Given the description of an element on the screen output the (x, y) to click on. 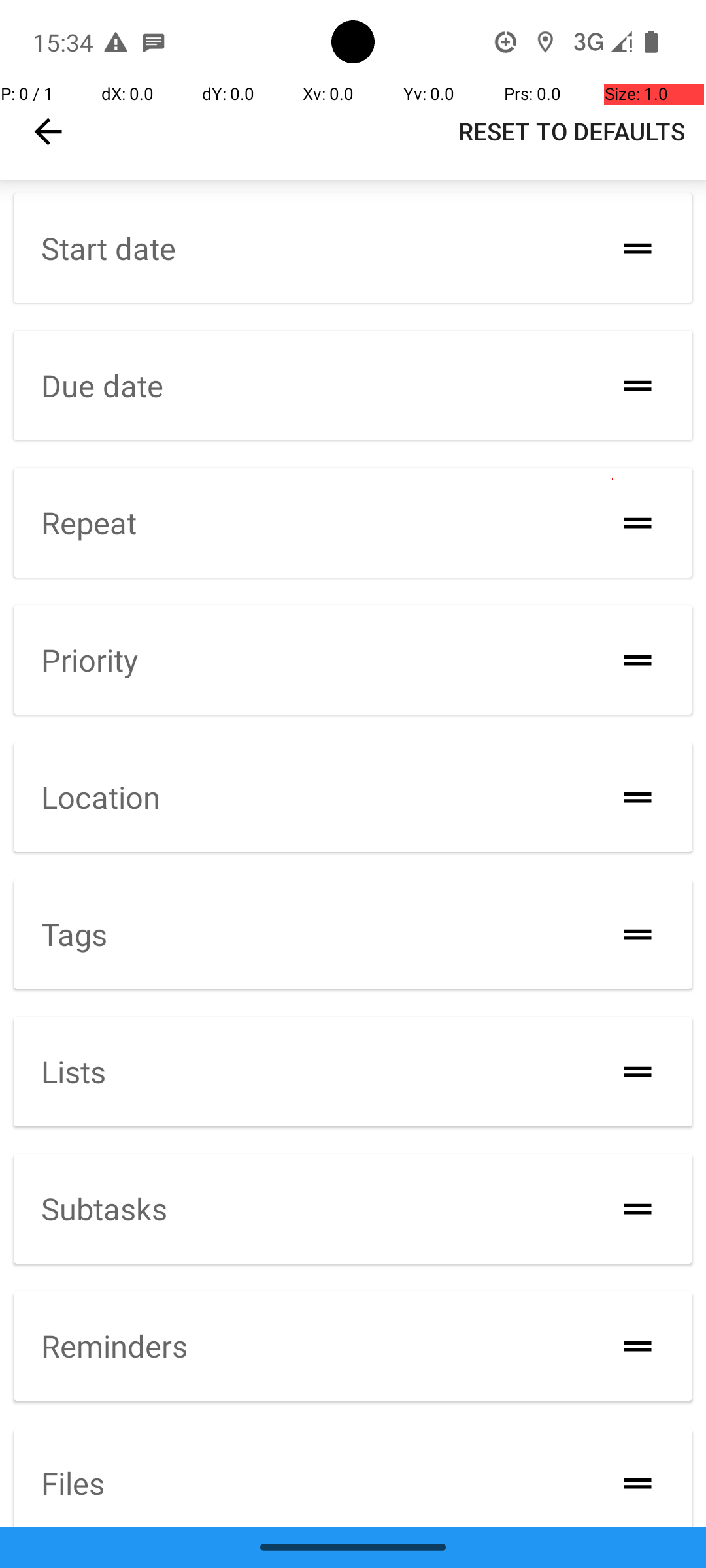
RESET TO DEFAULTS Element type: android.widget.Button (571, 131)
Start date Element type: android.widget.TextView (108, 247)
Due date Element type: android.widget.TextView (102, 384)
Repeat Element type: android.widget.TextView (88, 521)
Tags Element type: android.widget.TextView (74, 933)
Lists Element type: android.widget.TextView (73, 1070)
Subtasks Element type: android.widget.TextView (104, 1207)
Reminders Element type: android.widget.TextView (114, 1345)
